Given the description of an element on the screen output the (x, y) to click on. 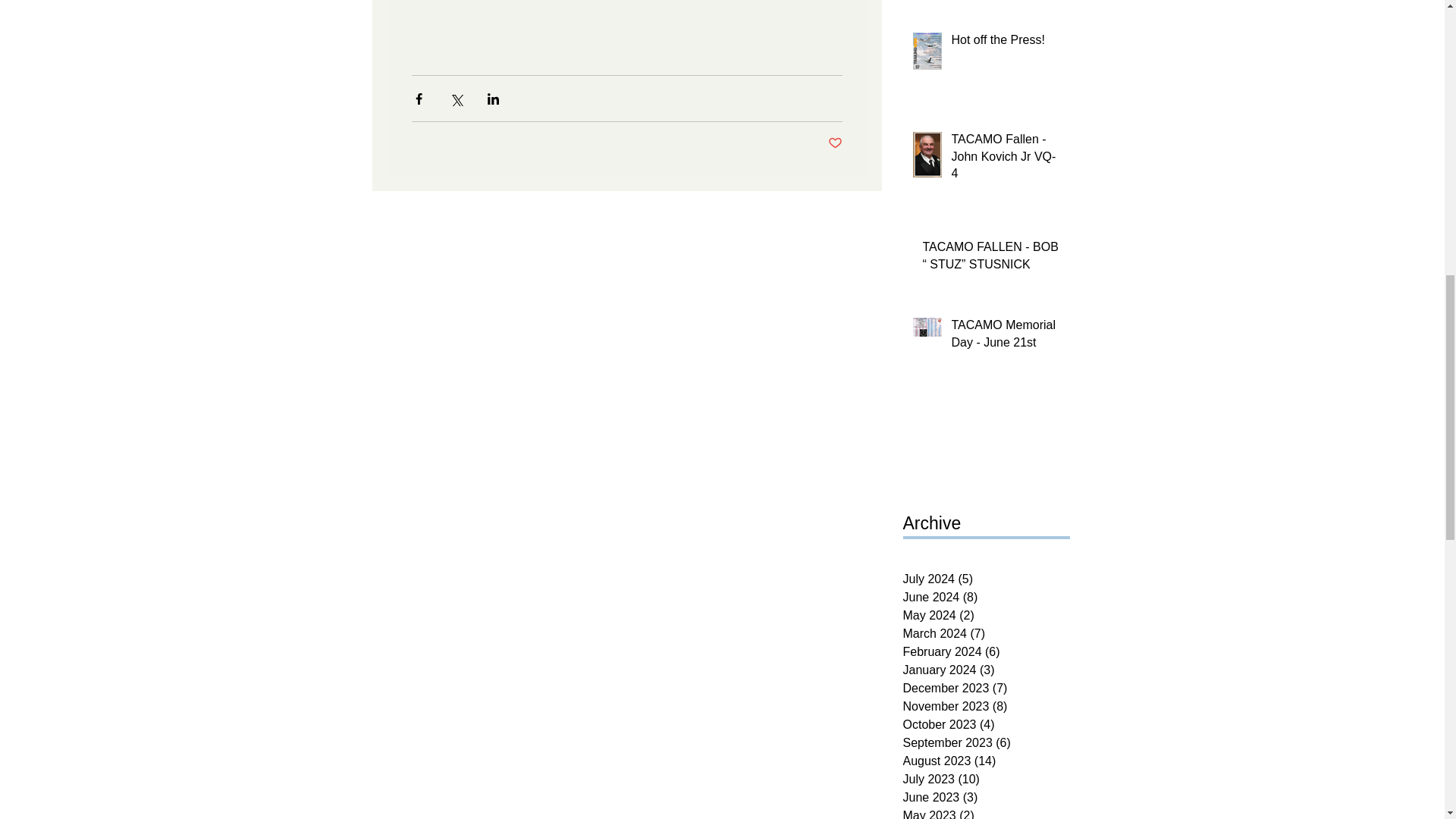
Post not marked as liked (835, 143)
